Given the description of an element on the screen output the (x, y) to click on. 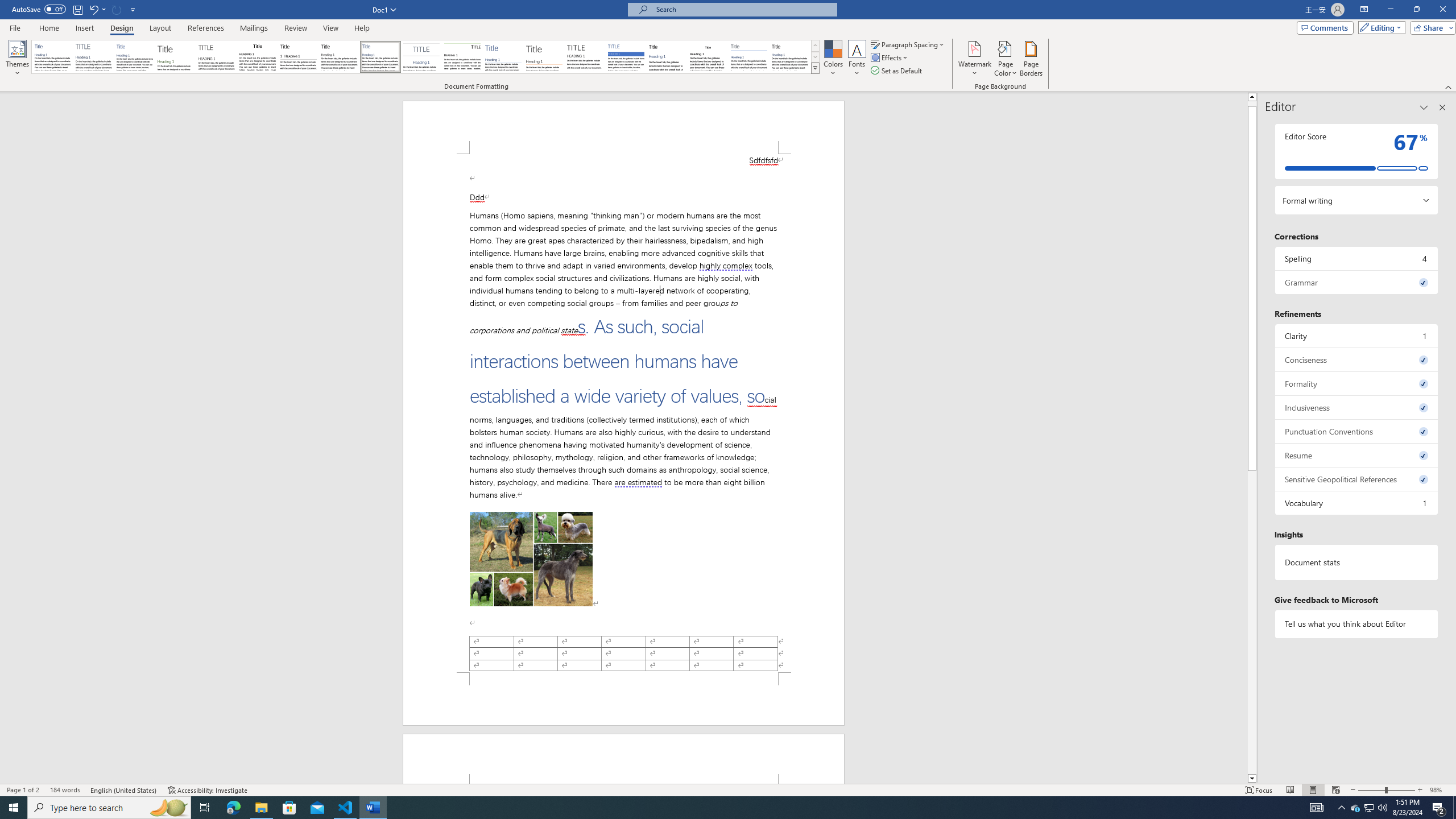
Formality, 0 issues. Press space or enter to review items. (1356, 383)
Black & White (Numbered) (298, 56)
Centered (421, 56)
Line up (1251, 96)
